Given the description of an element on the screen output the (x, y) to click on. 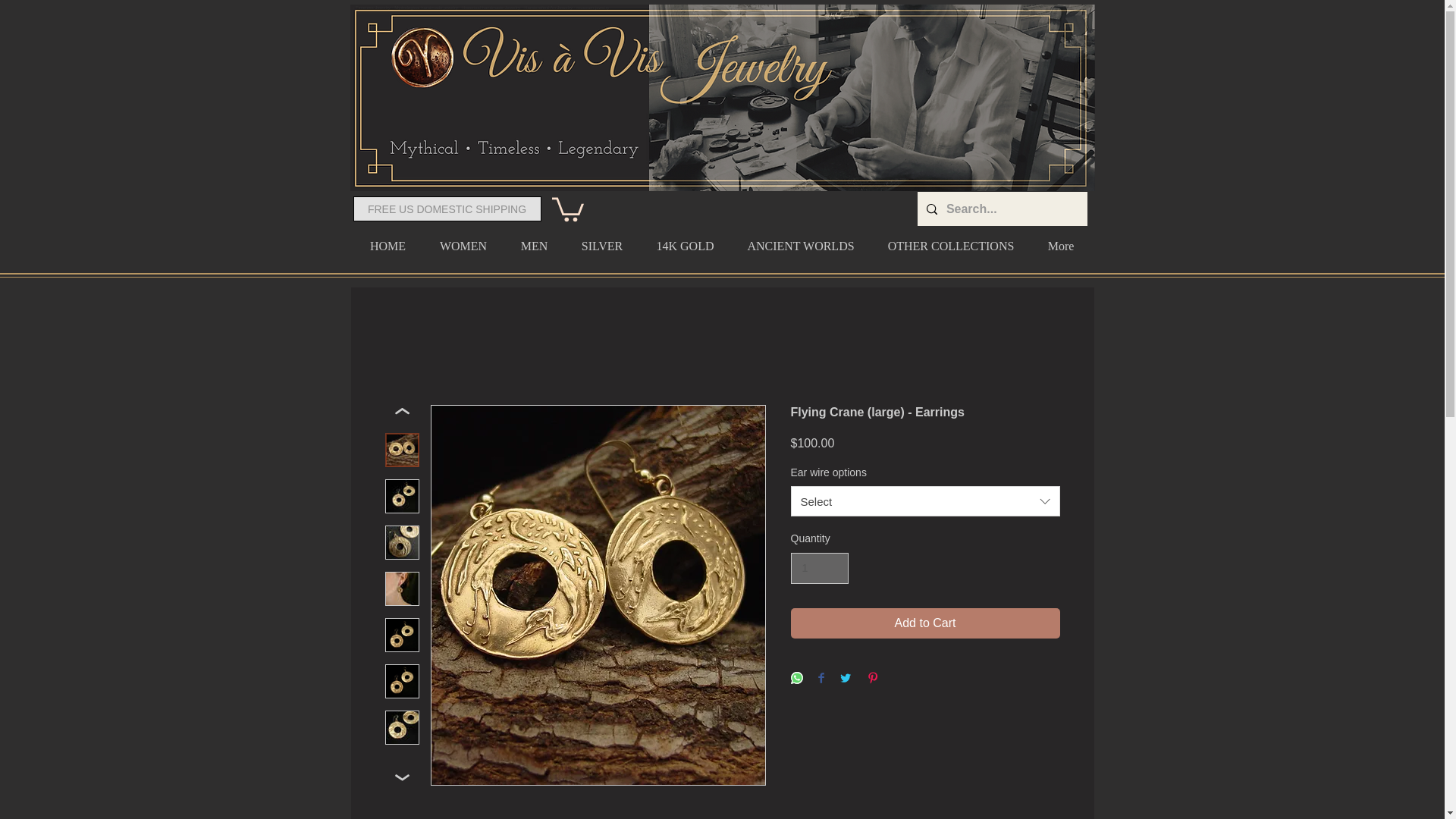
SILVER (601, 238)
FREE US DOMESTIC SHIPPING (447, 208)
14K GOLD (685, 238)
Vie a Vis Jewelry modile title (707, 97)
HOME (388, 238)
1 (818, 567)
